Given the description of an element on the screen output the (x, y) to click on. 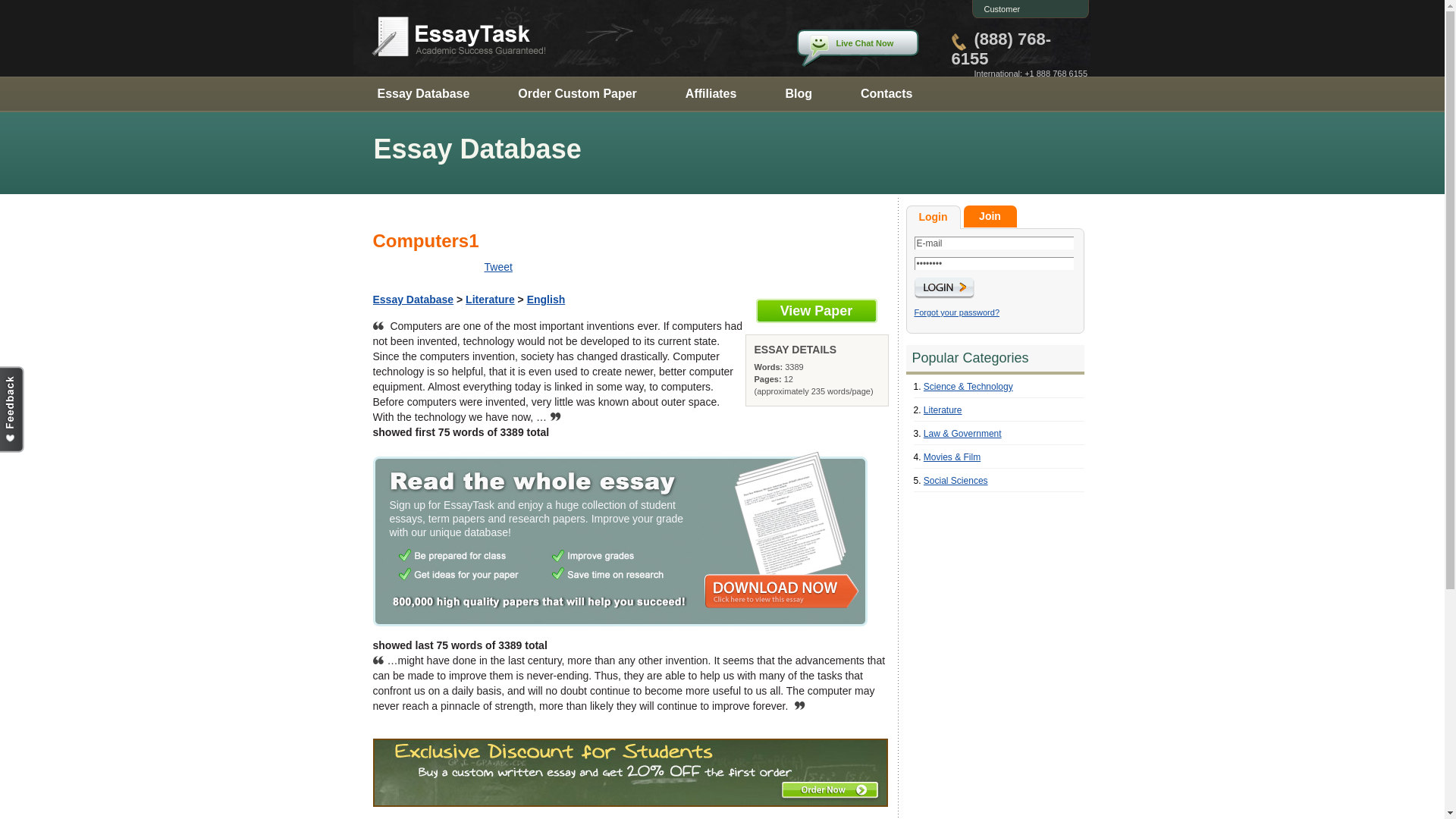
Password (994, 263)
Join (989, 216)
Contacts (886, 92)
Social Sciences (955, 480)
Live Chat Now (857, 48)
Login (932, 217)
Forgot your password? (957, 311)
Customer Login (998, 17)
Literature (490, 299)
